Given the description of an element on the screen output the (x, y) to click on. 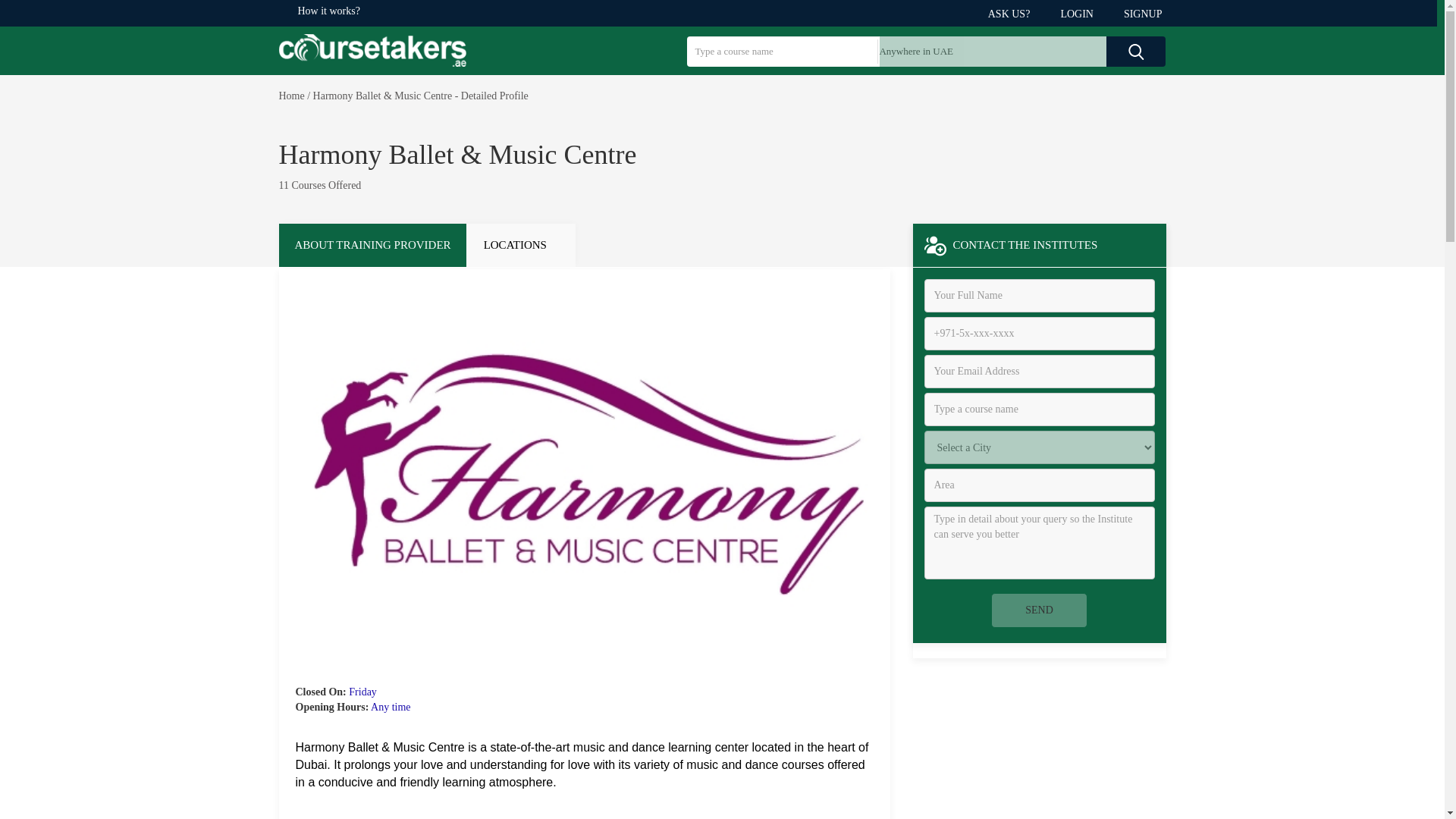
LOCATIONS (521, 244)
LOGIN (1080, 14)
Home (291, 95)
Send (1039, 610)
How it works? (328, 10)
ABOUT TRAINING PROVIDER (372, 244)
ASK US? (1012, 14)
SIGNUP (1136, 14)
Send (1039, 610)
